Given the description of an element on the screen output the (x, y) to click on. 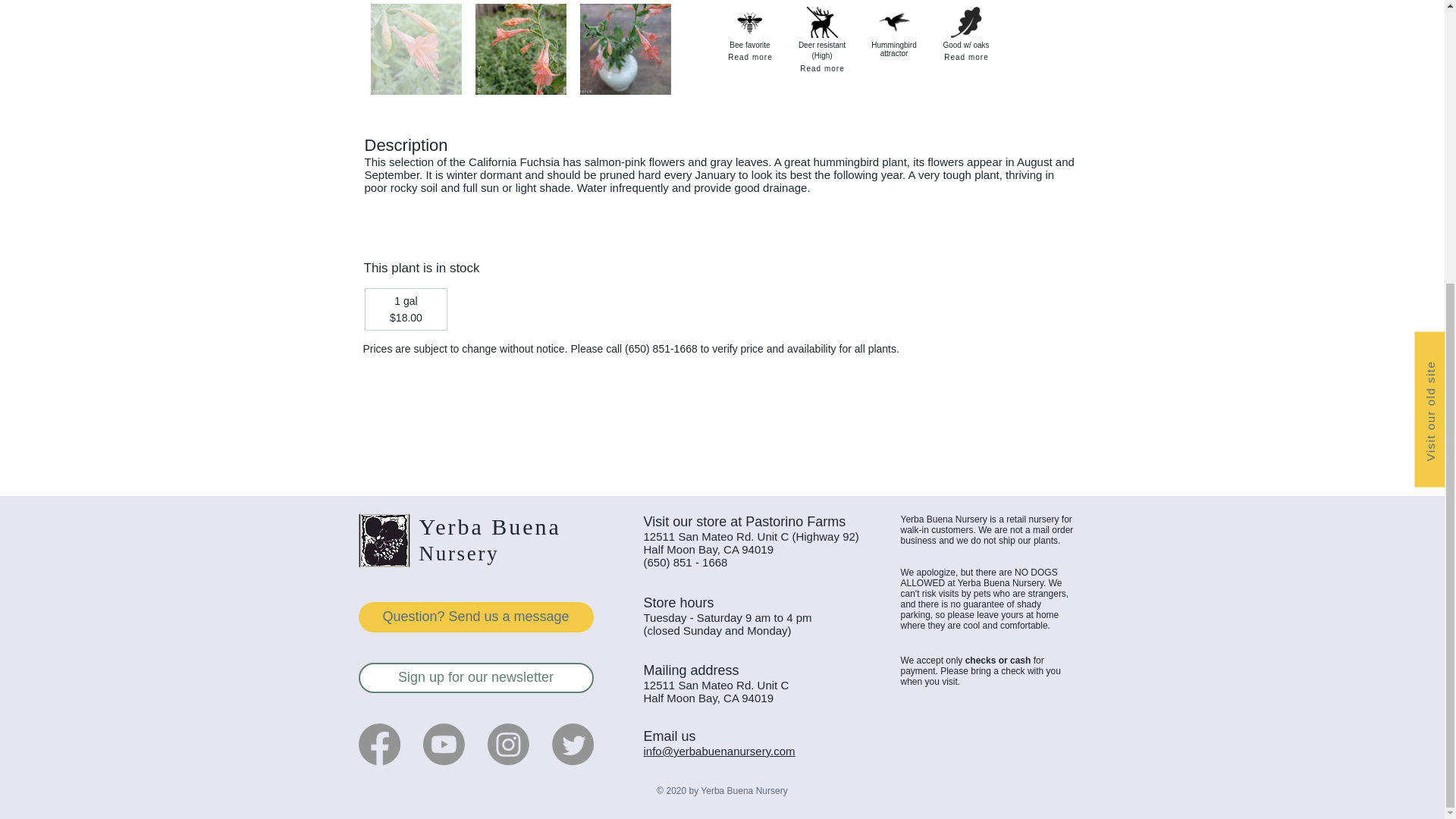
Question? Send us a message (475, 616)
Hummingbird attractor (892, 21)
Read more (965, 57)
Read more (750, 57)
Deer resistant (822, 21)
Read more (821, 68)
Bee favorite (749, 21)
Sign up for our newsletter (475, 677)
